Given the description of an element on the screen output the (x, y) to click on. 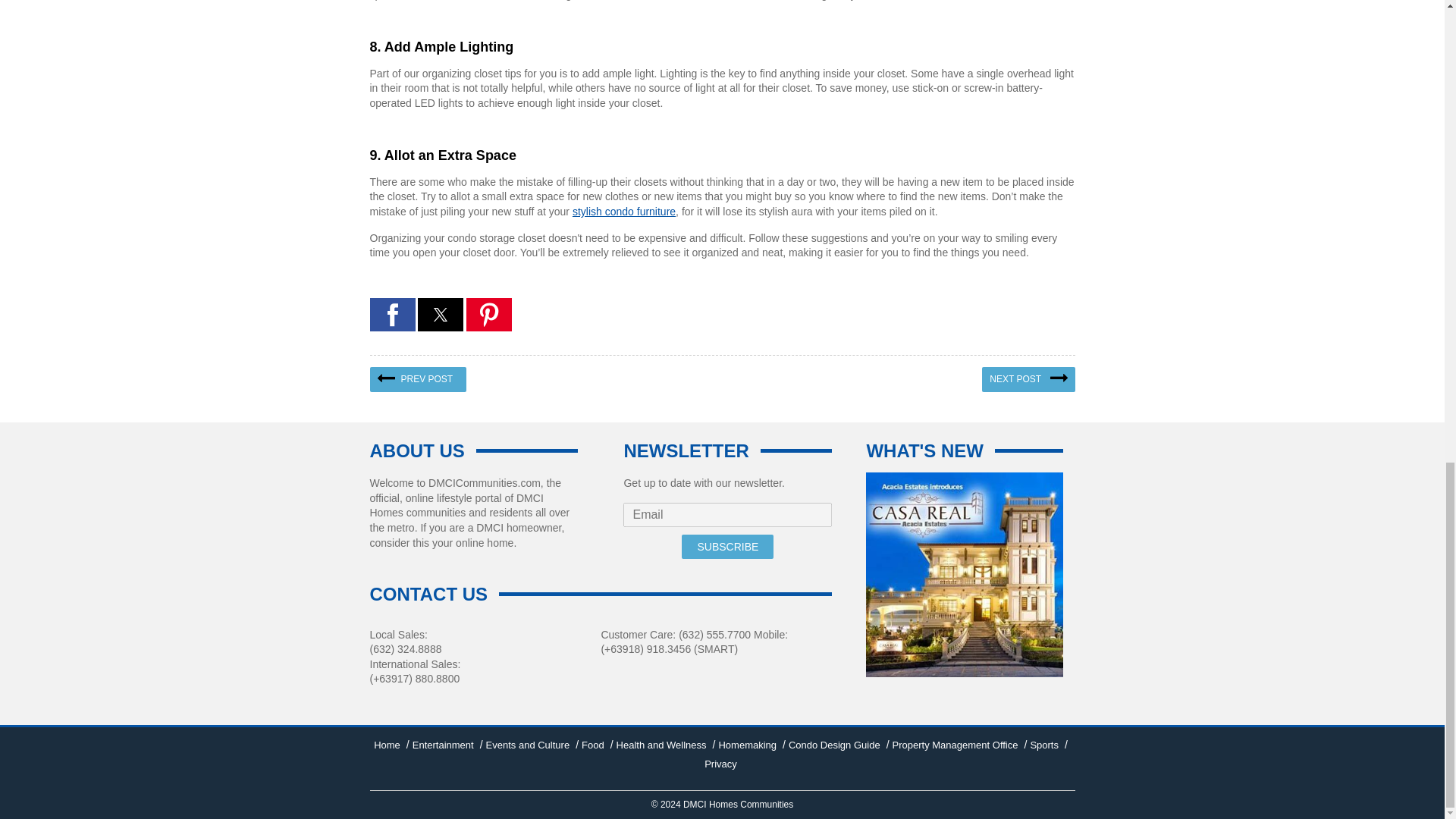
Food (592, 745)
Privacy (720, 763)
Condo Design Guide (834, 745)
Entertainment (443, 745)
Events and Culture (528, 745)
NEXT POST (1027, 379)
stylish condo furniture (623, 211)
Health and Wellness (660, 745)
Subscribe (727, 546)
Subscribe (727, 546)
Home (387, 745)
Homemaking (746, 745)
Property Management Office (954, 745)
PREV POST (418, 379)
Sports (1043, 745)
